Given the description of an element on the screen output the (x, y) to click on. 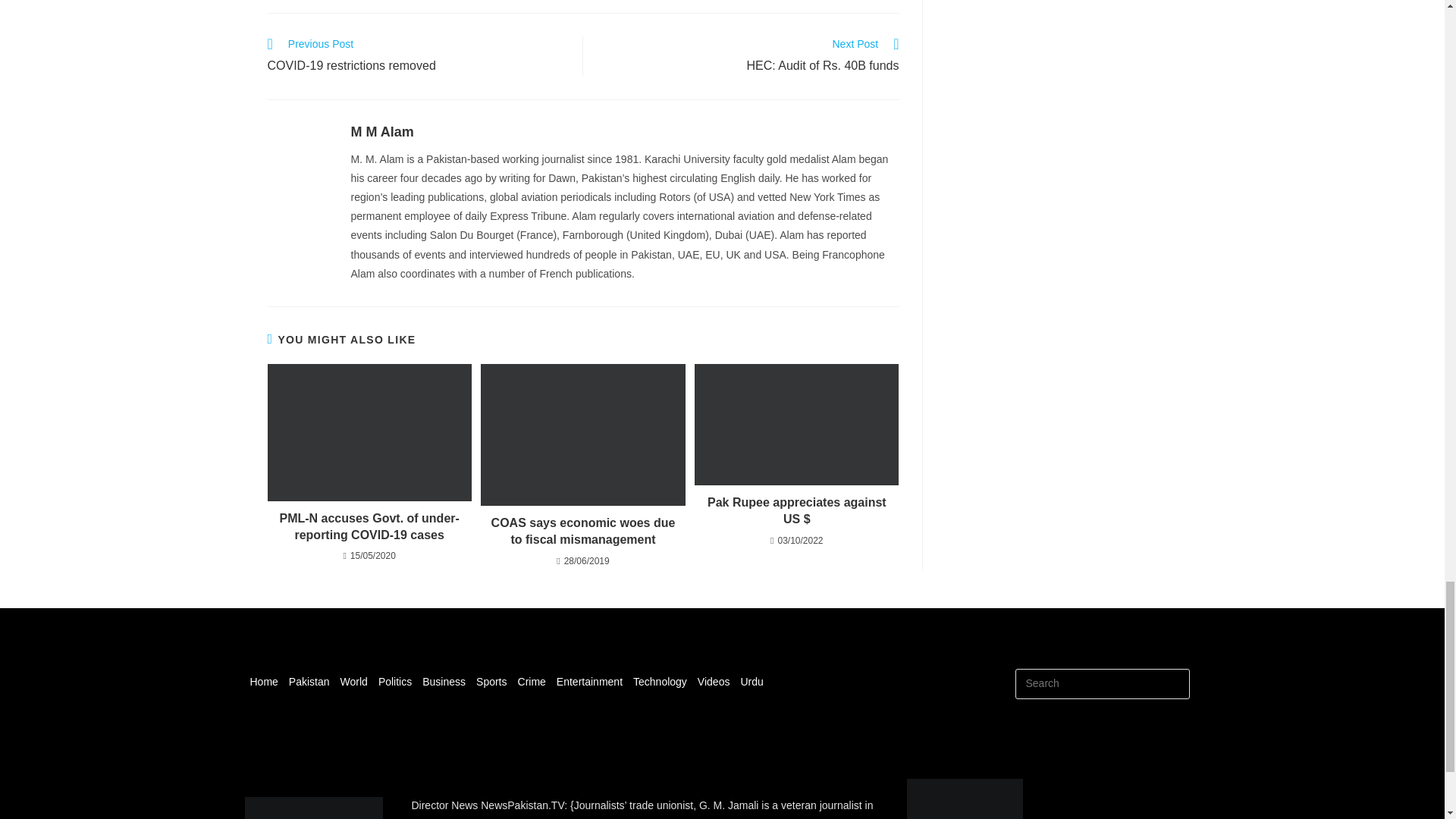
Visit author page (381, 131)
